Given the description of an element on the screen output the (x, y) to click on. 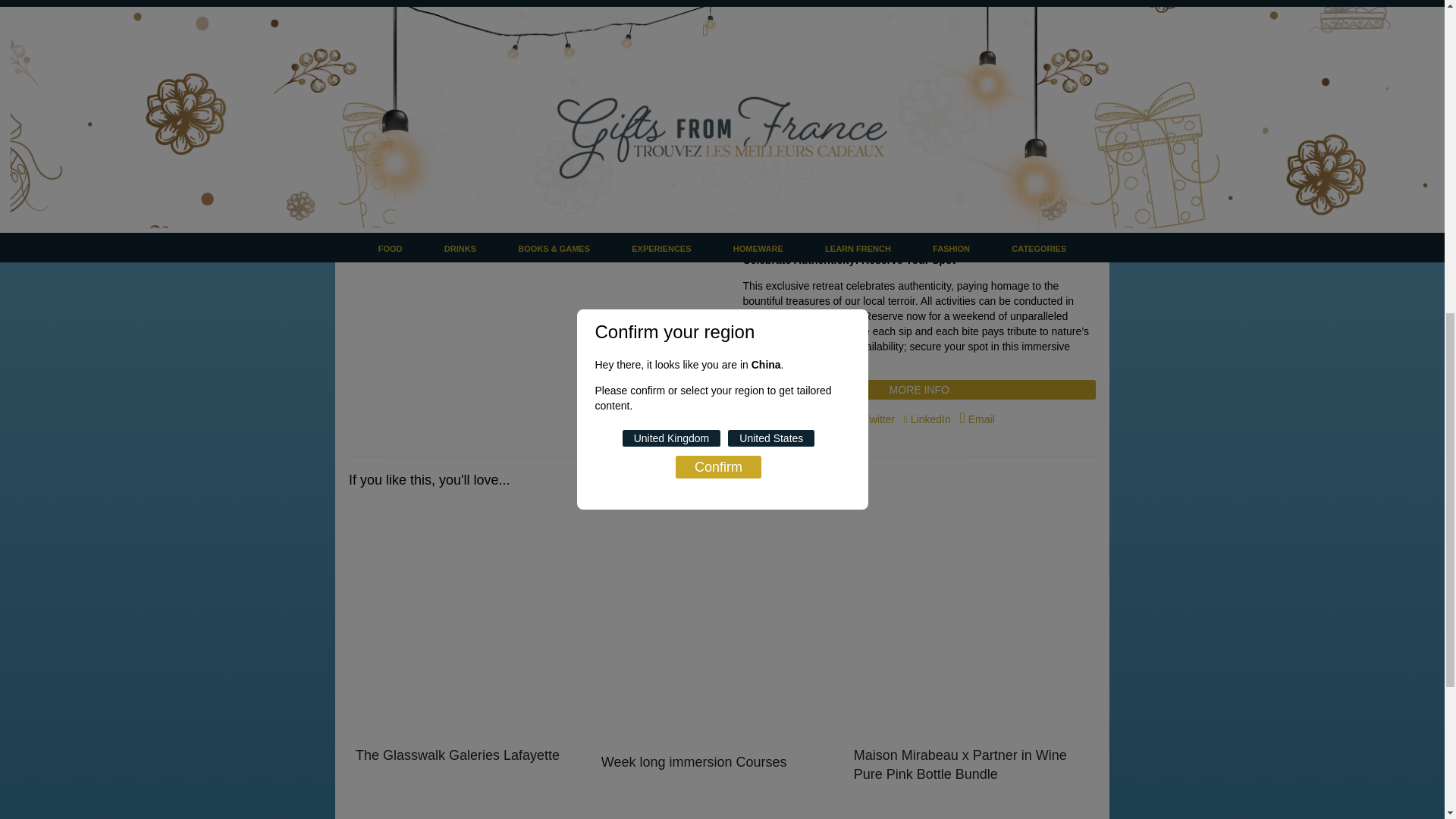
Twitter (877, 419)
Email (976, 419)
The Glasswalk Galeries Lafayette (457, 754)
Facebook (822, 419)
LinkedIn (928, 419)
Week long immersion Courses (694, 761)
MORE INFO (919, 389)
Maison Mirabeau x Partner in Wine Pure Pink Bottle Bundle (960, 764)
